Given the description of an element on the screen output the (x, y) to click on. 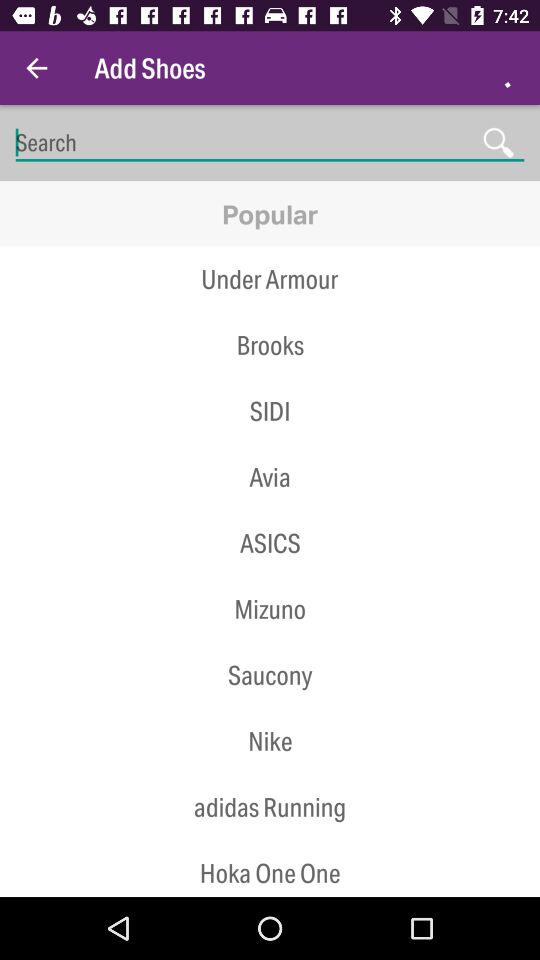
turn off the item below the under armour (270, 345)
